Given the description of an element on the screen output the (x, y) to click on. 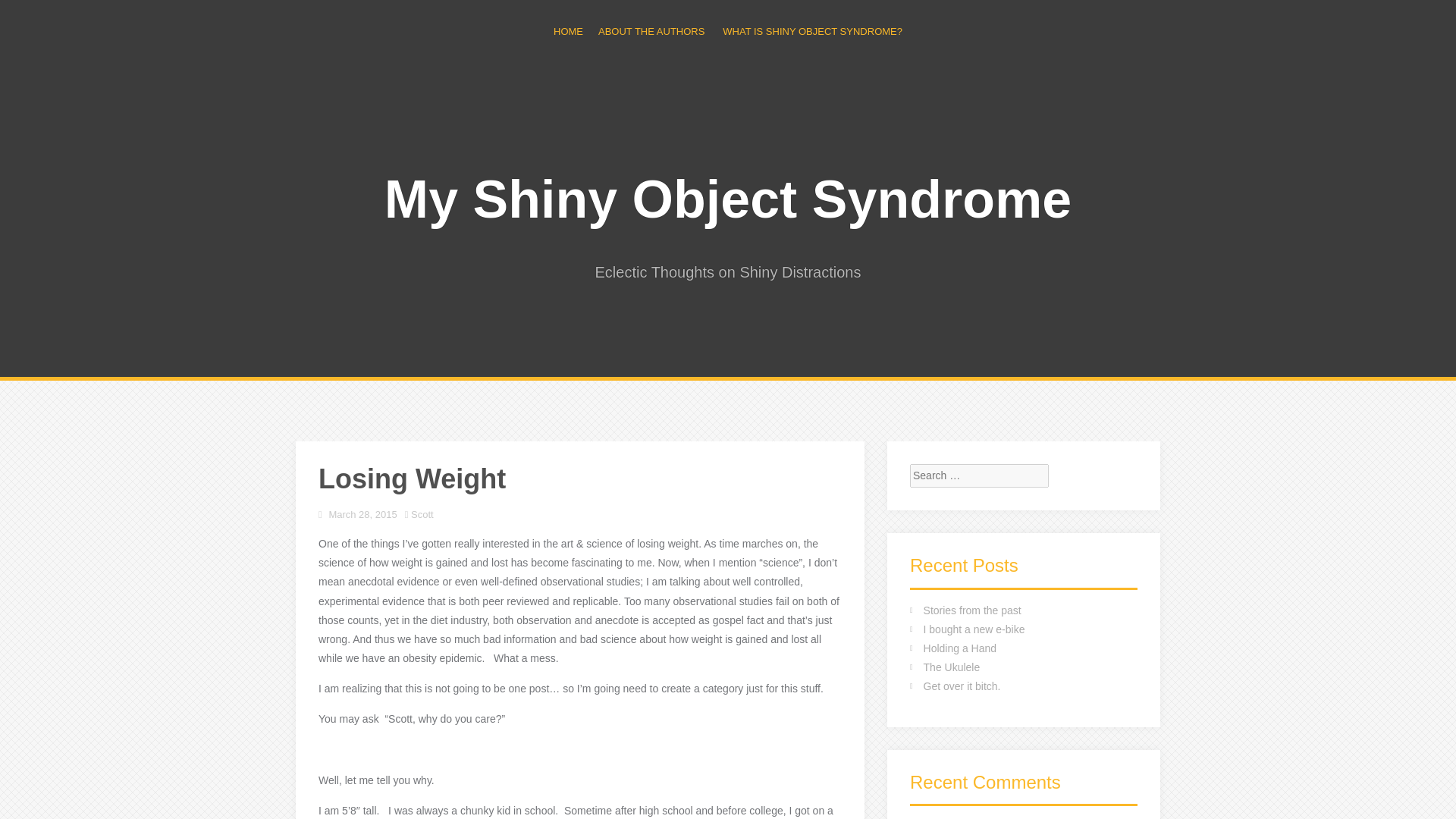
ABOUT THE AUTHORS (651, 31)
Stories from the past (972, 610)
The Ukulele (951, 666)
Search (24, 11)
Get over it bitch. (962, 686)
March 28, 2015 (362, 514)
My Shiny Object Syndrome (727, 199)
Scott (421, 514)
Holding a Hand (960, 648)
WHAT IS SHINY OBJECT SYNDROME? (812, 31)
I bought a new e-bike (974, 629)
HOME (568, 31)
